Given the description of an element on the screen output the (x, y) to click on. 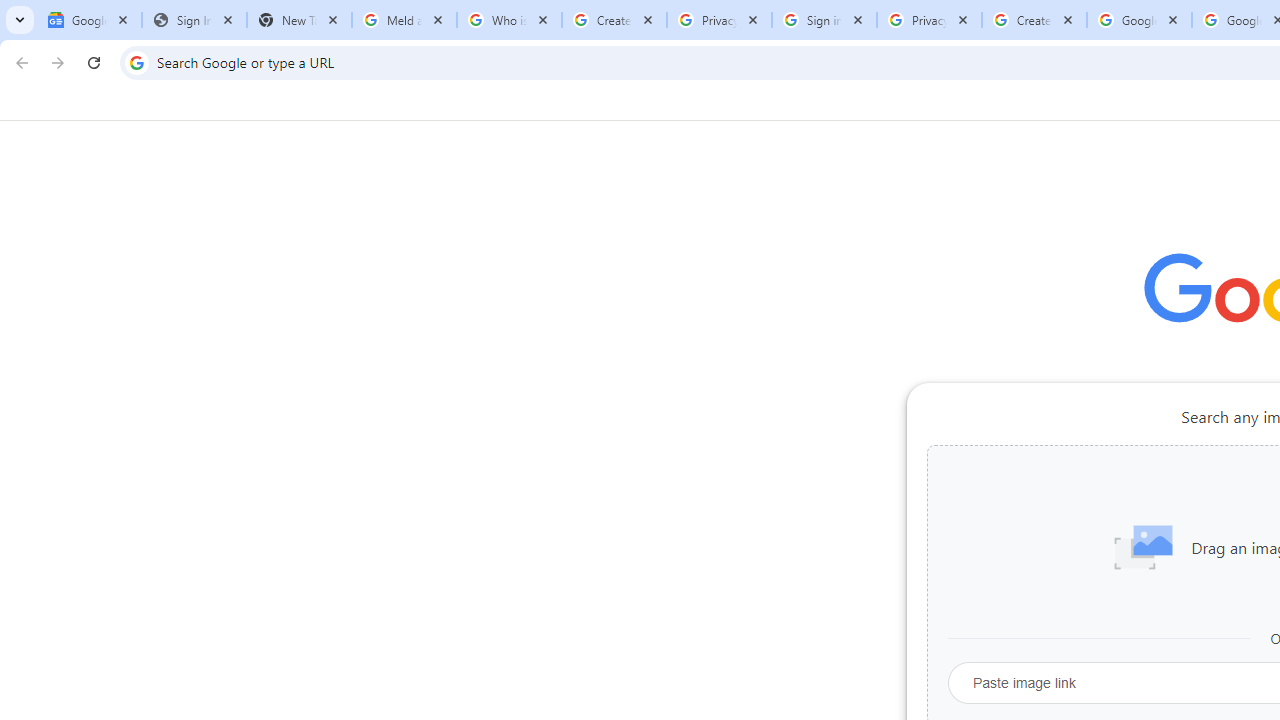
Create your Google Account (613, 20)
Sign In - USA TODAY (194, 20)
Create your Google Account (1033, 20)
Sign in - Google Accounts (823, 20)
More actions for Sign in shortcut (1095, 466)
New Tab (299, 20)
Google News (89, 20)
